Given the description of an element on the screen output the (x, y) to click on. 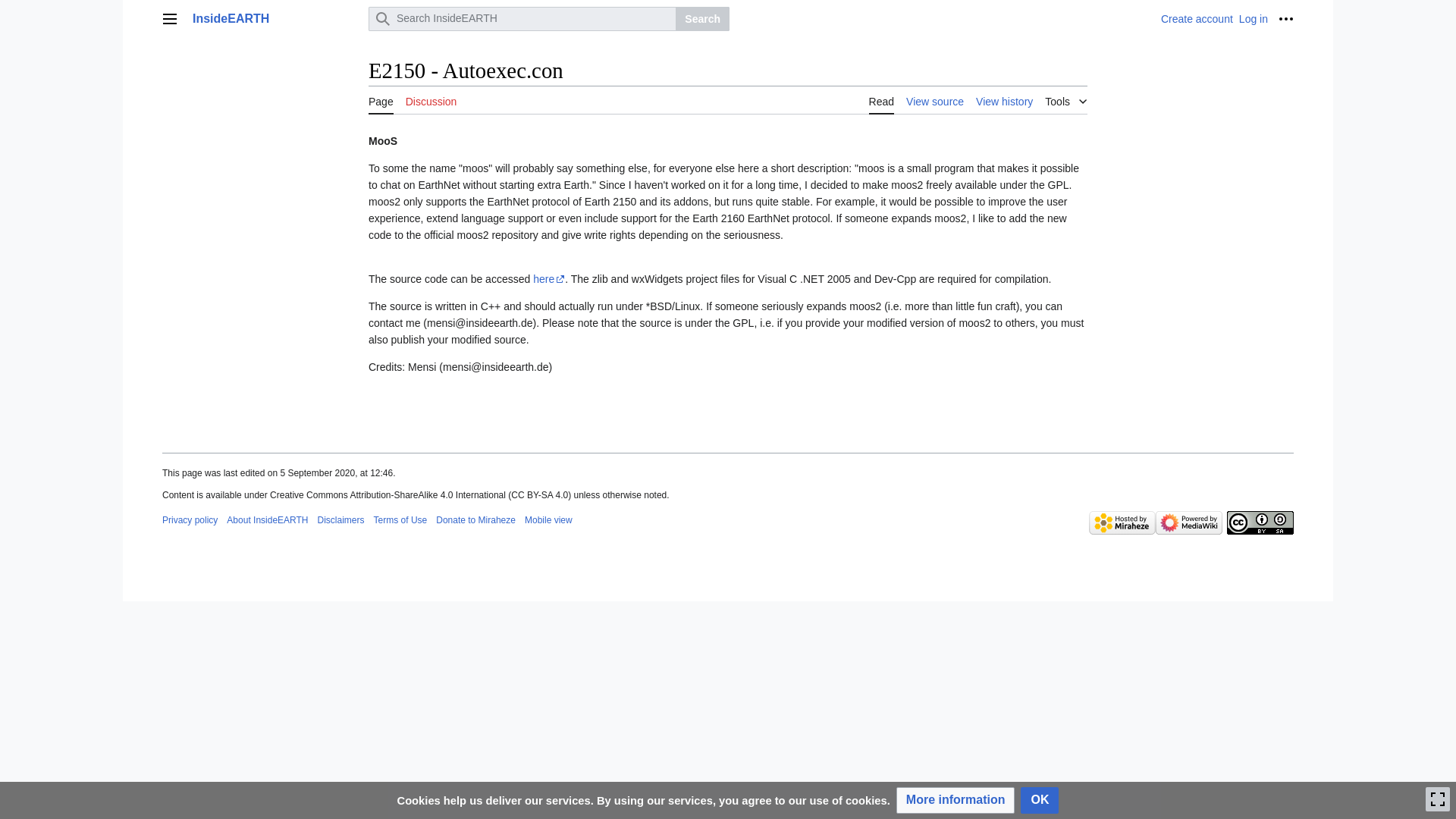
View source (934, 100)
More options (1286, 18)
Search (702, 18)
About InsideEARTH (267, 520)
Page (380, 100)
here (548, 278)
Discussion (431, 100)
More information (955, 800)
Read (881, 100)
OK (1039, 800)
